Given the description of an element on the screen output the (x, y) to click on. 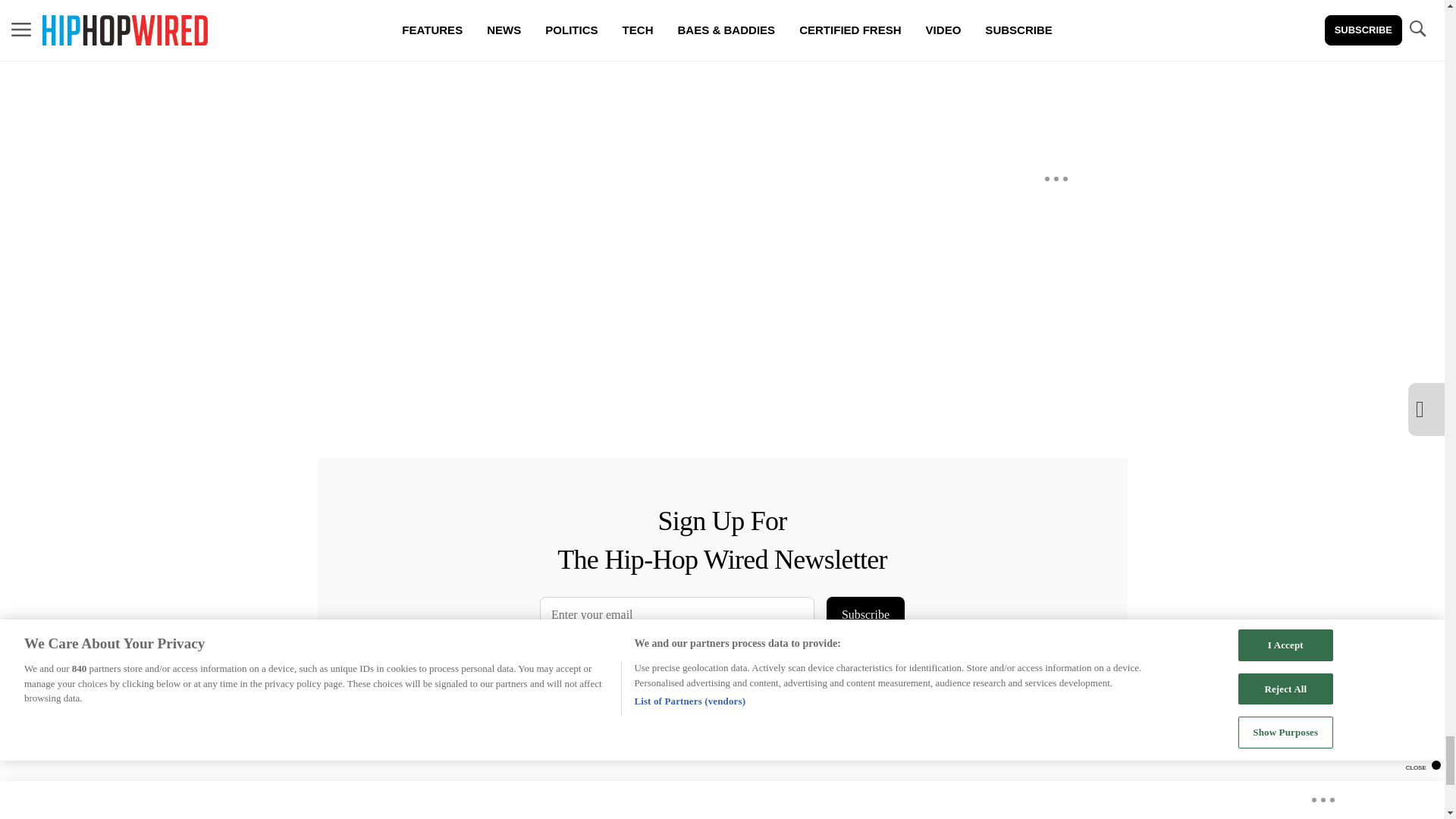
Vuukle Comments Widget (585, 84)
